Given the description of an element on the screen output the (x, y) to click on. 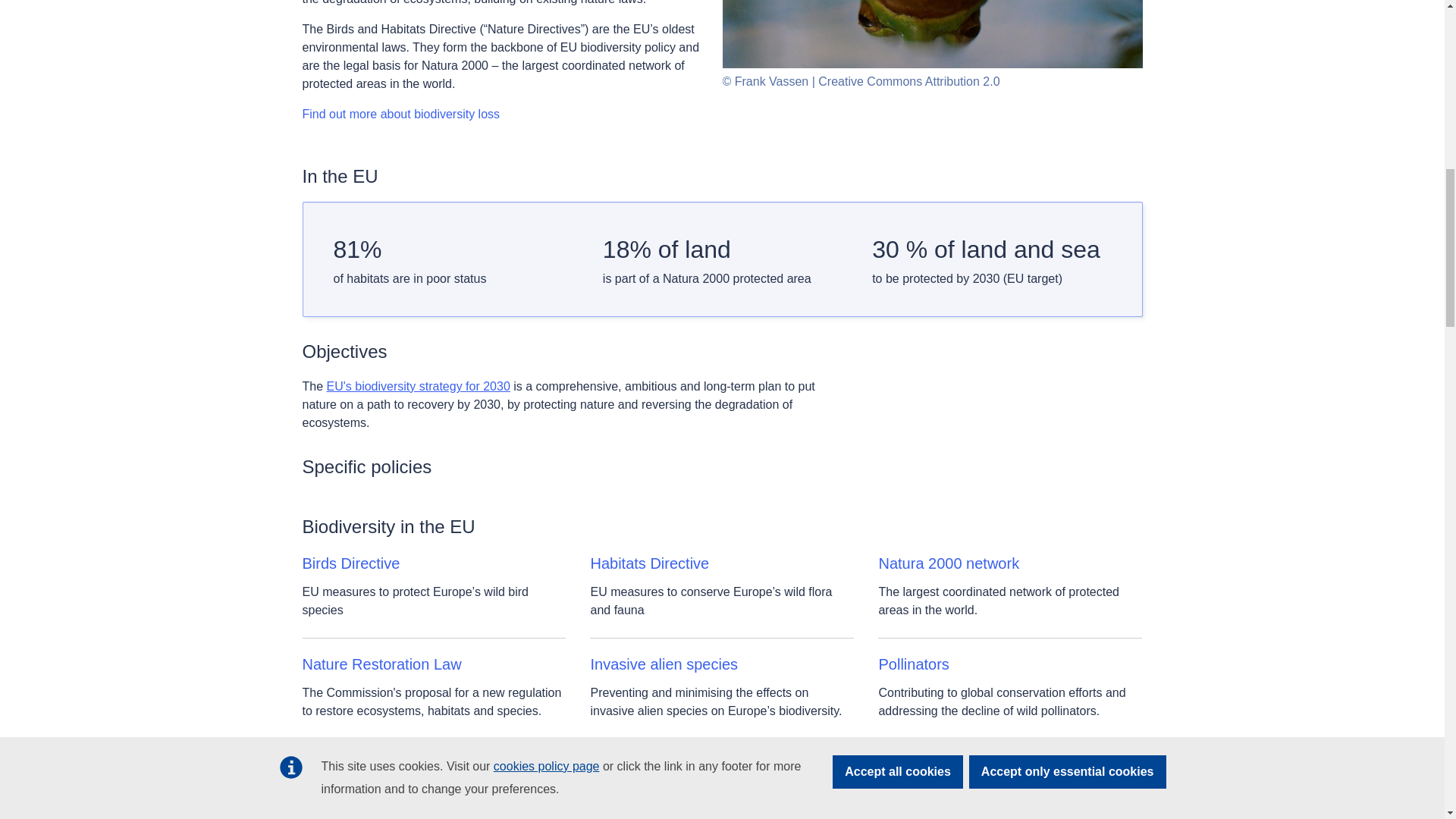
Natura 2000 network (948, 563)
Birds Directive (349, 563)
Nature Restoration Law (381, 664)
Animals in zoos (642, 764)
Habitats Directive (649, 563)
Urban nature and biodiversity (400, 764)
Invasive alien species (663, 664)
Pollinators (913, 664)
EU's biodiversity strategy for 2030 (418, 386)
Find out more about biodiversity loss (400, 114)
Green infrastructure (945, 764)
